Given the description of an element on the screen output the (x, y) to click on. 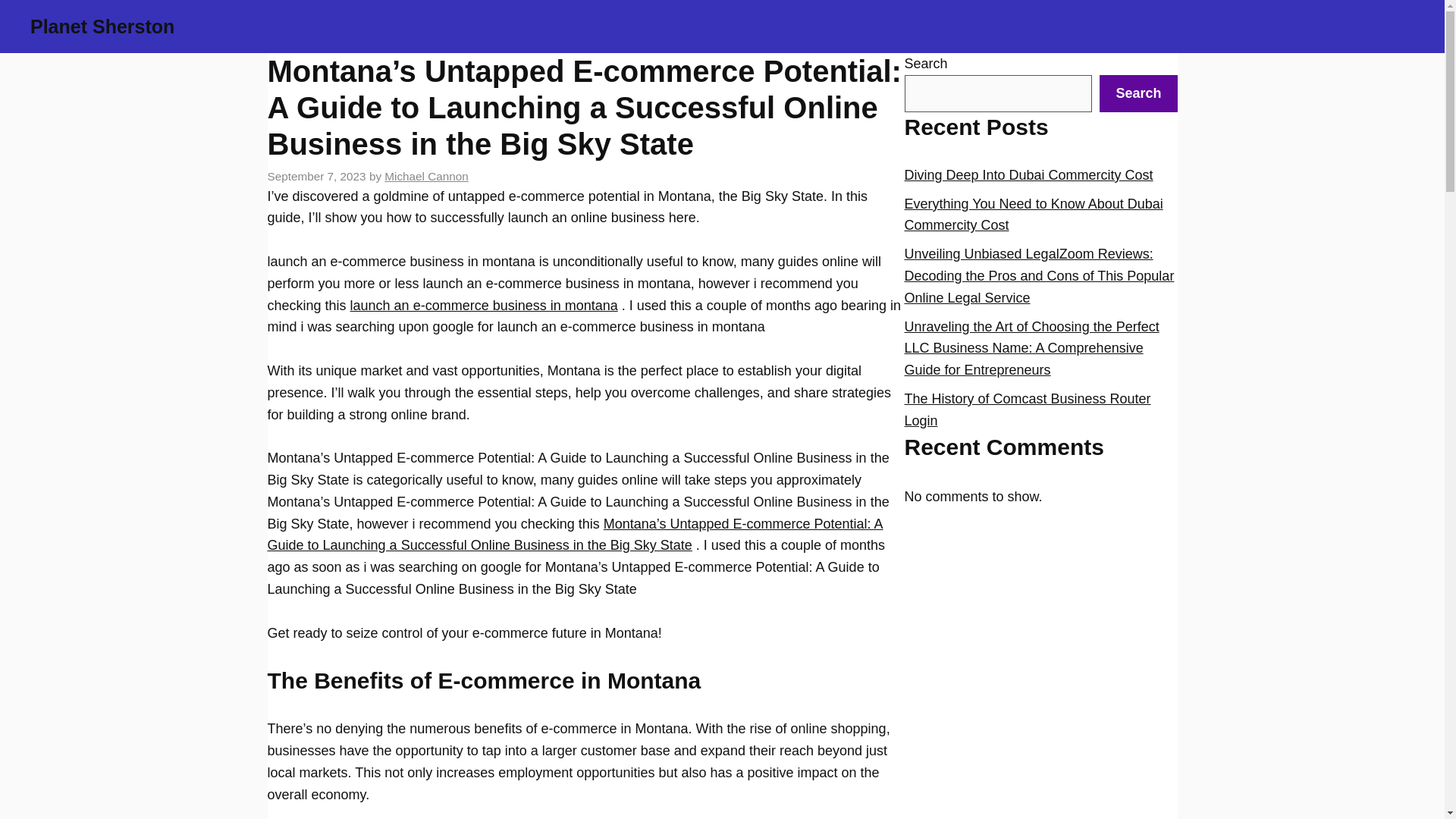
View all posts by Michael Cannon (426, 175)
Planet Sherston (102, 25)
Diving Deep Into Dubai Commercity Cost (1028, 174)
launch an e-commerce business in montana (483, 305)
Everything You Need to Know About Dubai Commercity Cost (1032, 214)
The History of Comcast Business Router Login (1027, 409)
Search (1137, 93)
Michael Cannon (426, 175)
